Given the description of an element on the screen output the (x, y) to click on. 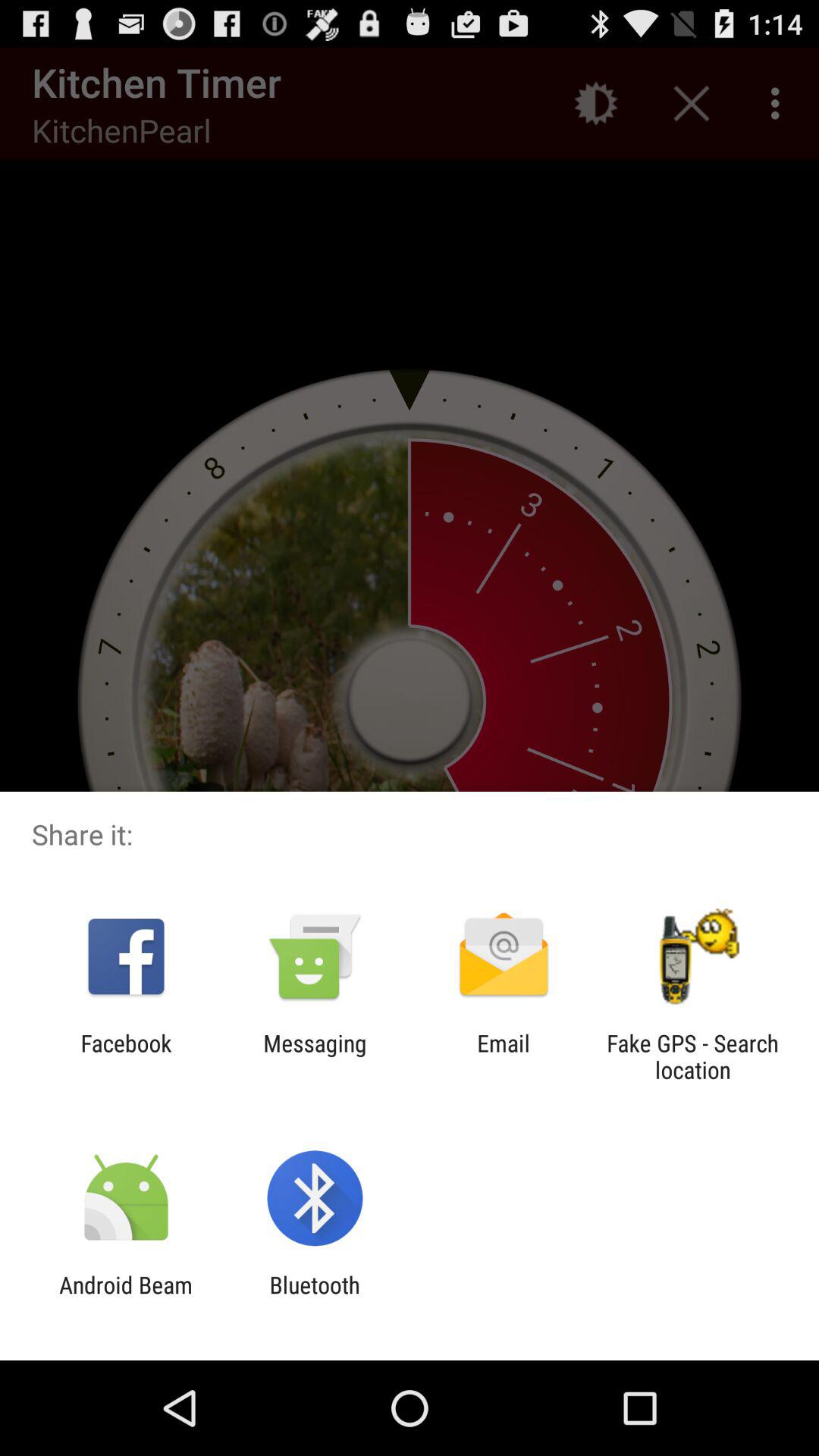
click the messaging item (314, 1056)
